Given the description of an element on the screen output the (x, y) to click on. 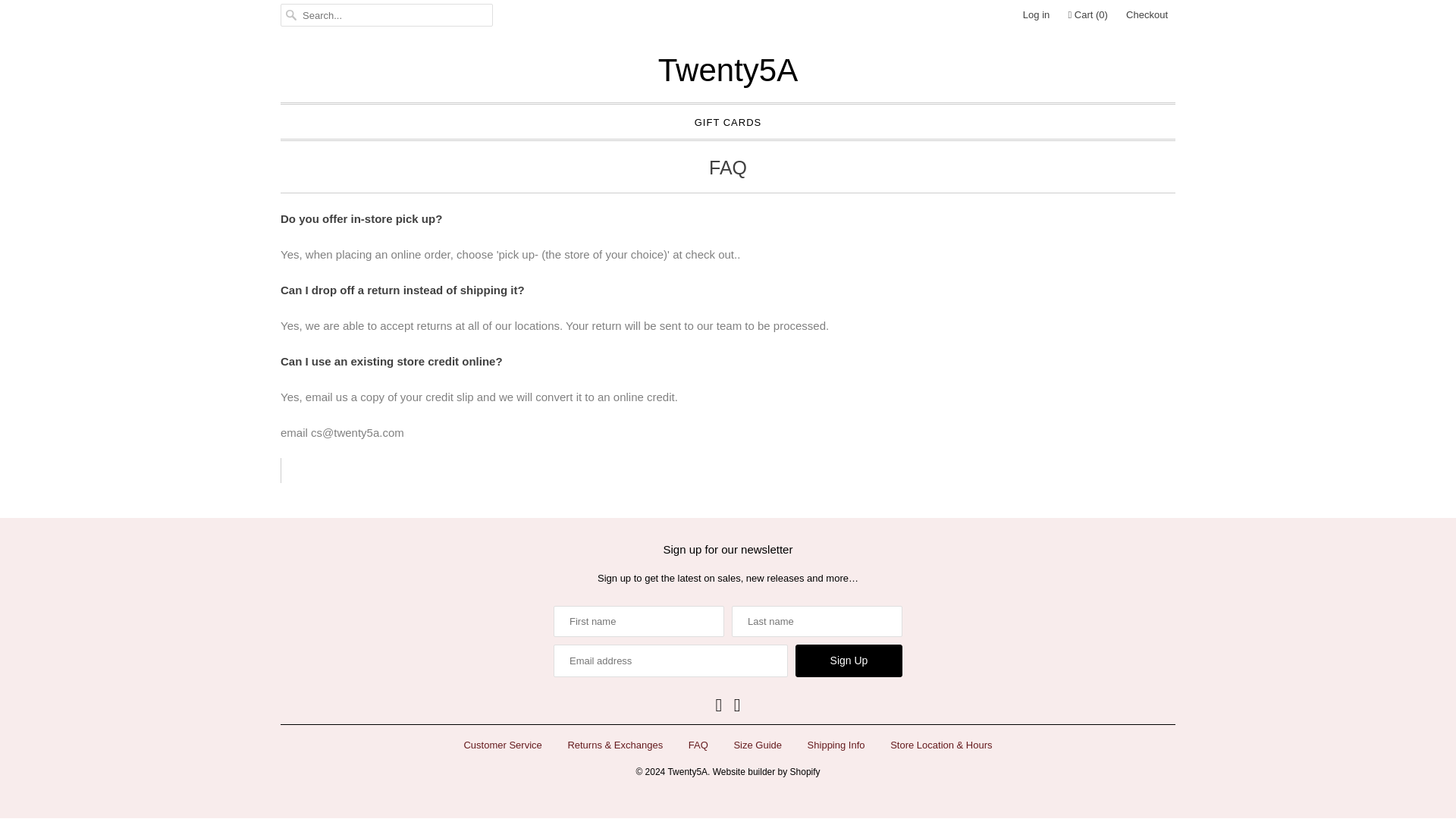
Checkout (1146, 15)
FAQ (697, 745)
Customer Service (502, 745)
Size Guide (757, 745)
Twenty5A (727, 69)
Twenty5A (686, 767)
Twenty5A (727, 69)
Sign Up (848, 660)
Website builder by Shopify (767, 767)
GIFT CARDS (727, 122)
